Given the description of an element on the screen output the (x, y) to click on. 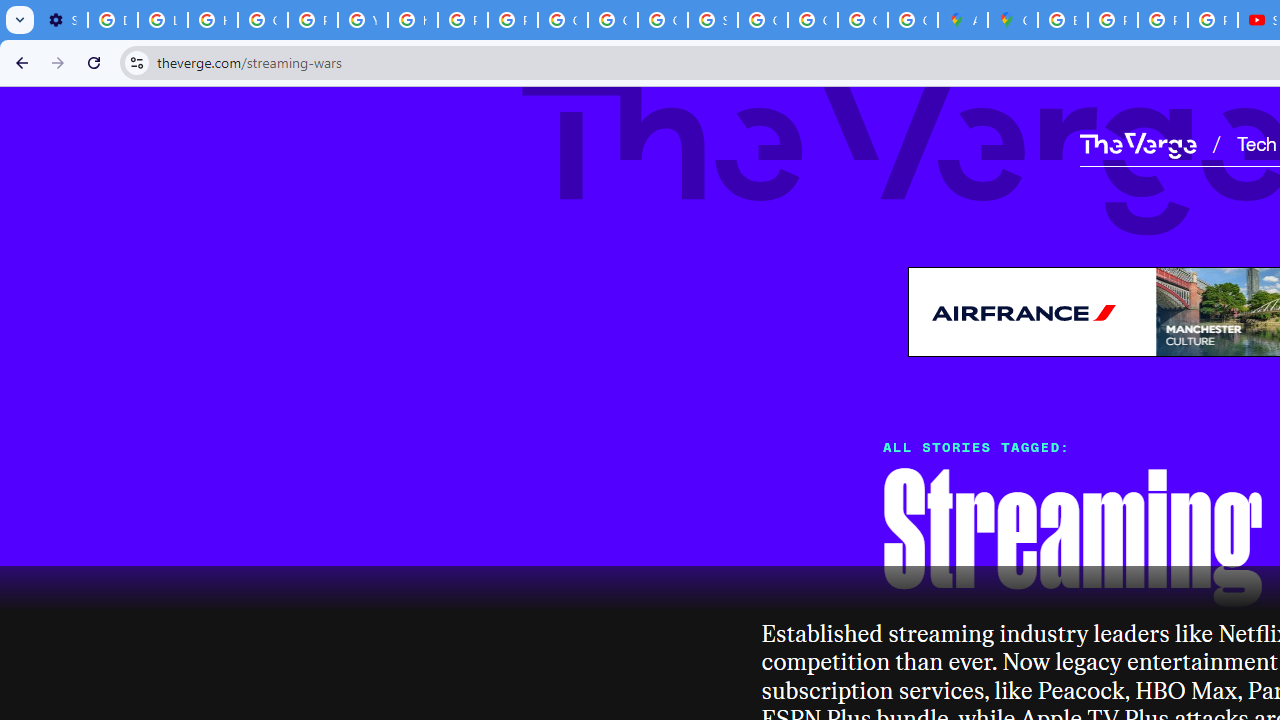
Privacy Help Center - Policies Help (1162, 20)
